Given the description of an element on the screen output the (x, y) to click on. 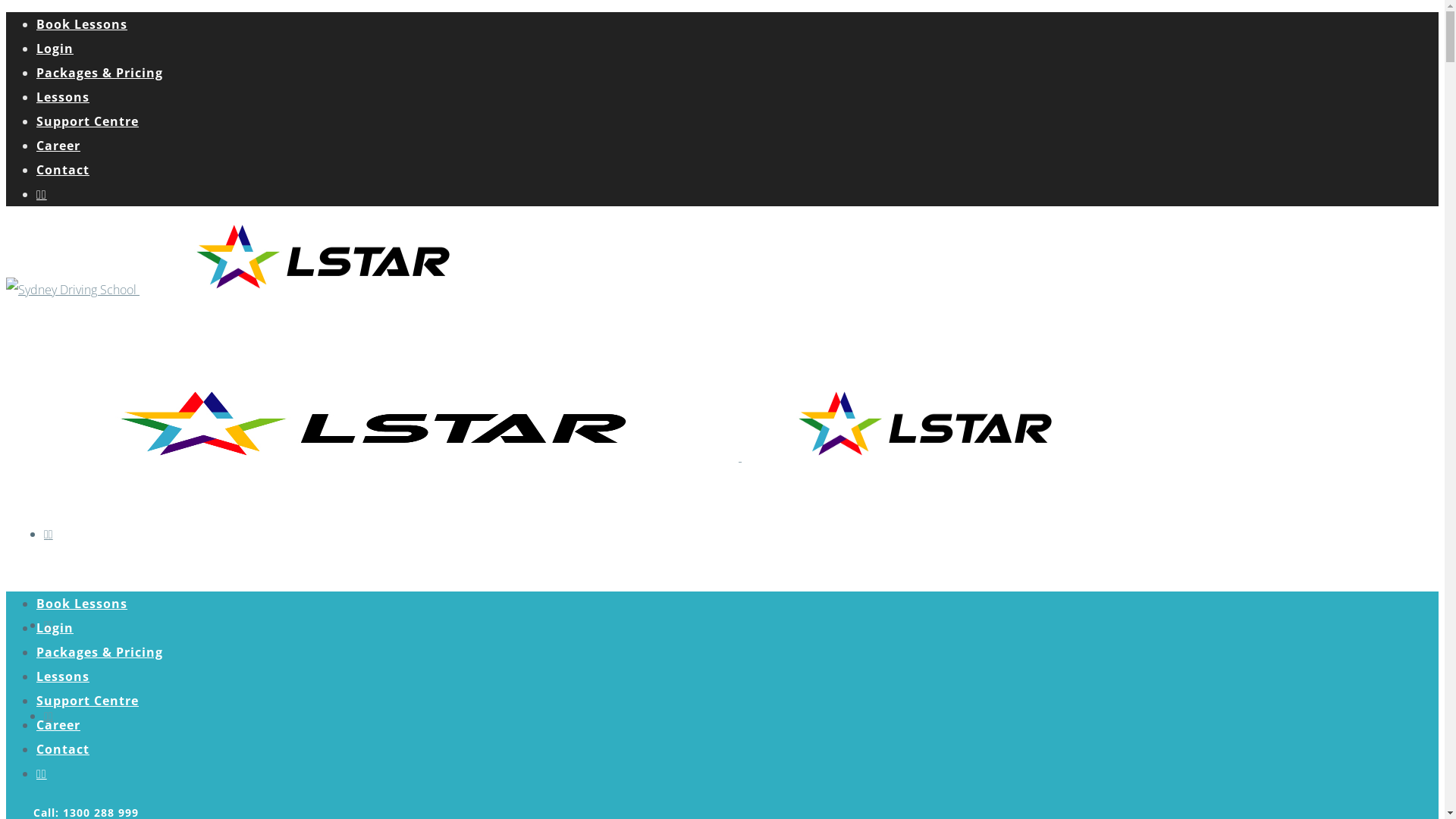
Packages & Pricing Element type: text (99, 651)
Login Element type: text (54, 48)
Career Element type: text (58, 724)
Support Centre Element type: text (87, 120)
Contact Element type: text (62, 169)
Book Lessons Element type: text (81, 603)
Book Lessons Element type: text (81, 23)
Lessons Element type: text (62, 96)
Support Centre Element type: text (87, 700)
Contact Element type: text (62, 748)
Career Element type: text (58, 145)
Login Element type: text (54, 627)
Lessons Element type: text (62, 676)
Packages & Pricing Element type: text (99, 72)
